Given the description of an element on the screen output the (x, y) to click on. 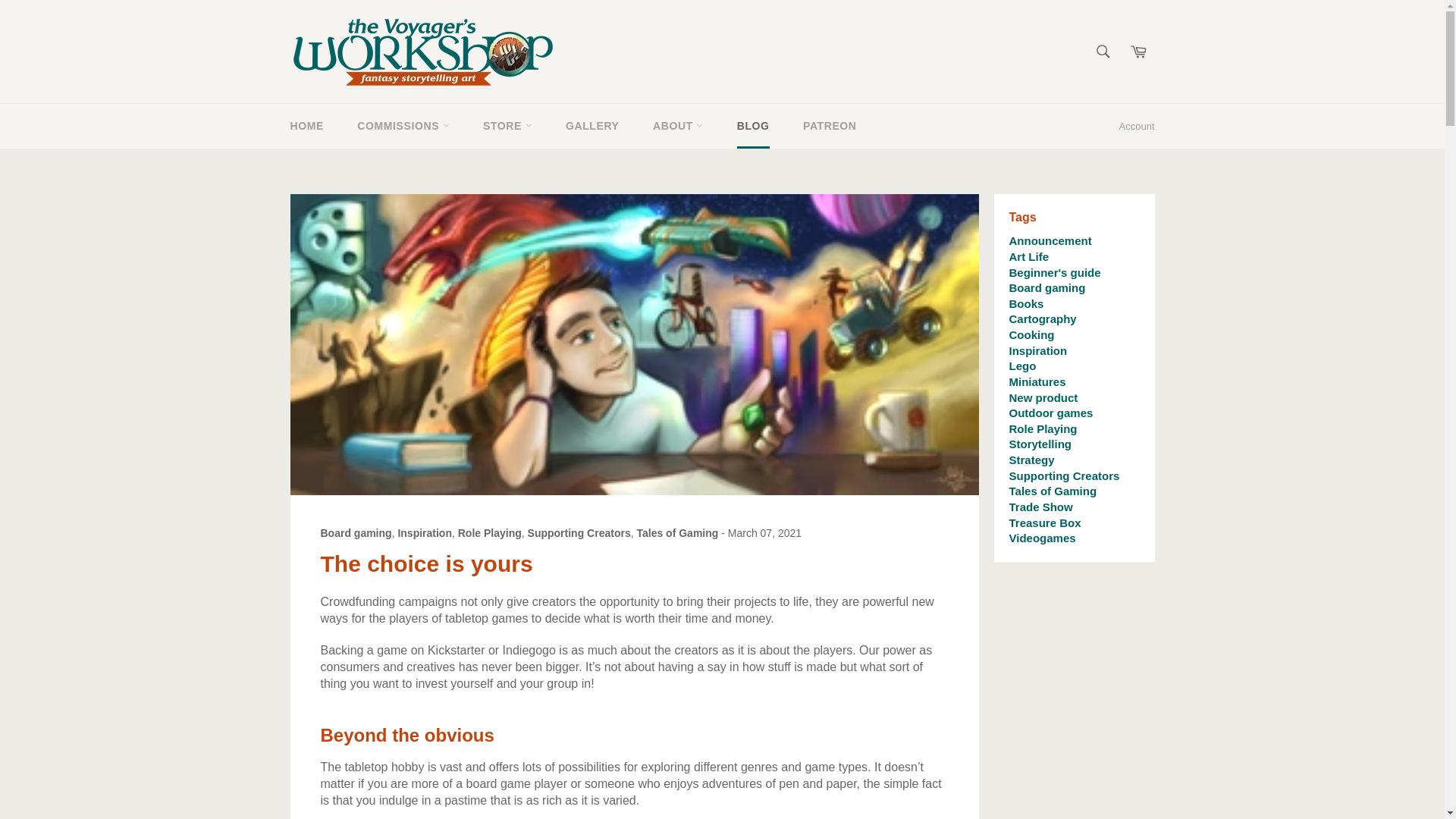
HOME (306, 126)
STORE (507, 126)
Search (1103, 51)
Cart (1138, 51)
COMMISSIONS (403, 126)
